Given the description of an element on the screen output the (x, y) to click on. 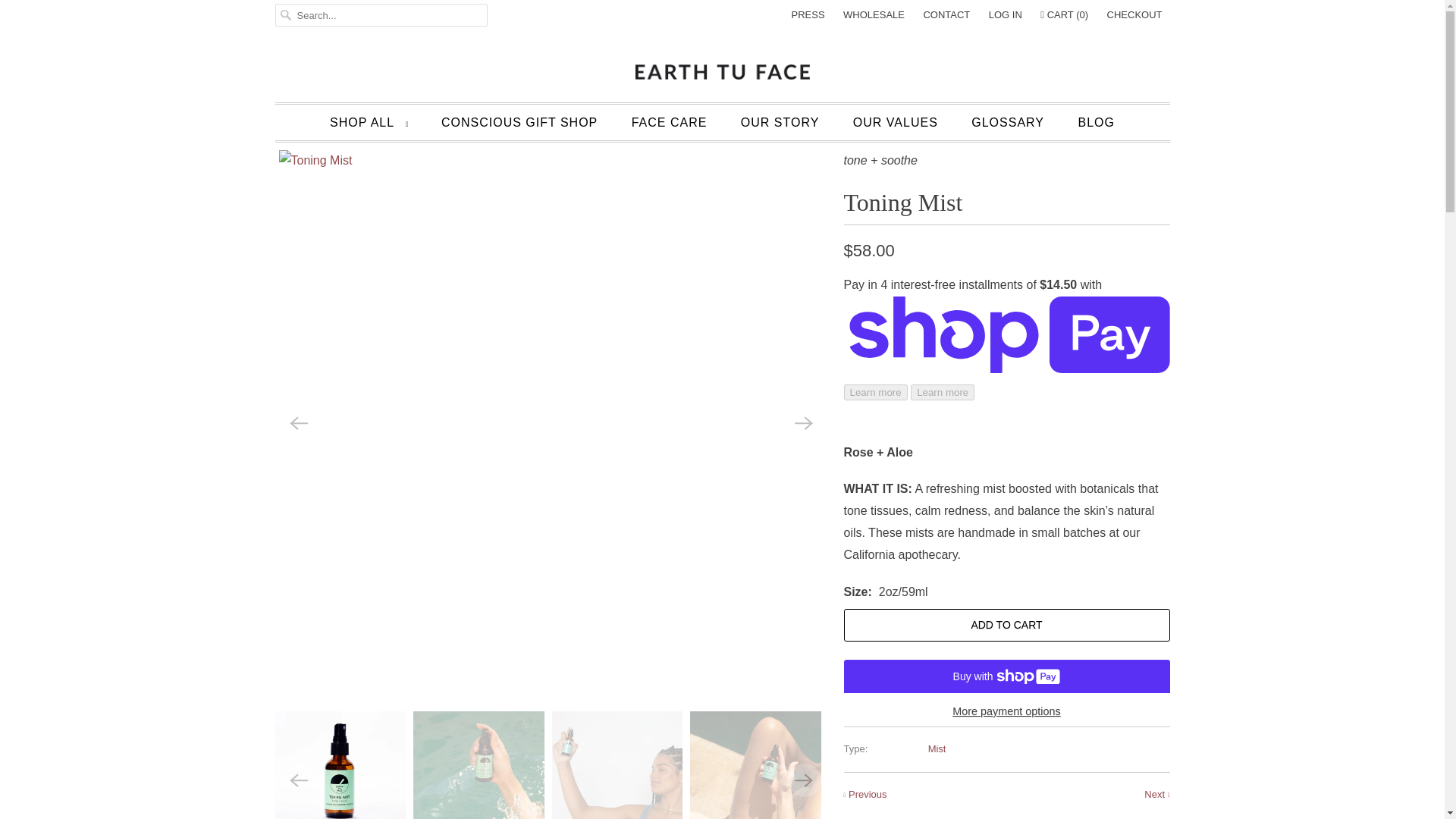
WHOLESALE (873, 15)
Earth Tu Face (722, 69)
PRESS (808, 15)
CHECKOUT (1133, 15)
CONTACT (946, 15)
Mist (937, 748)
LOG IN (1005, 15)
